Given the description of an element on the screen output the (x, y) to click on. 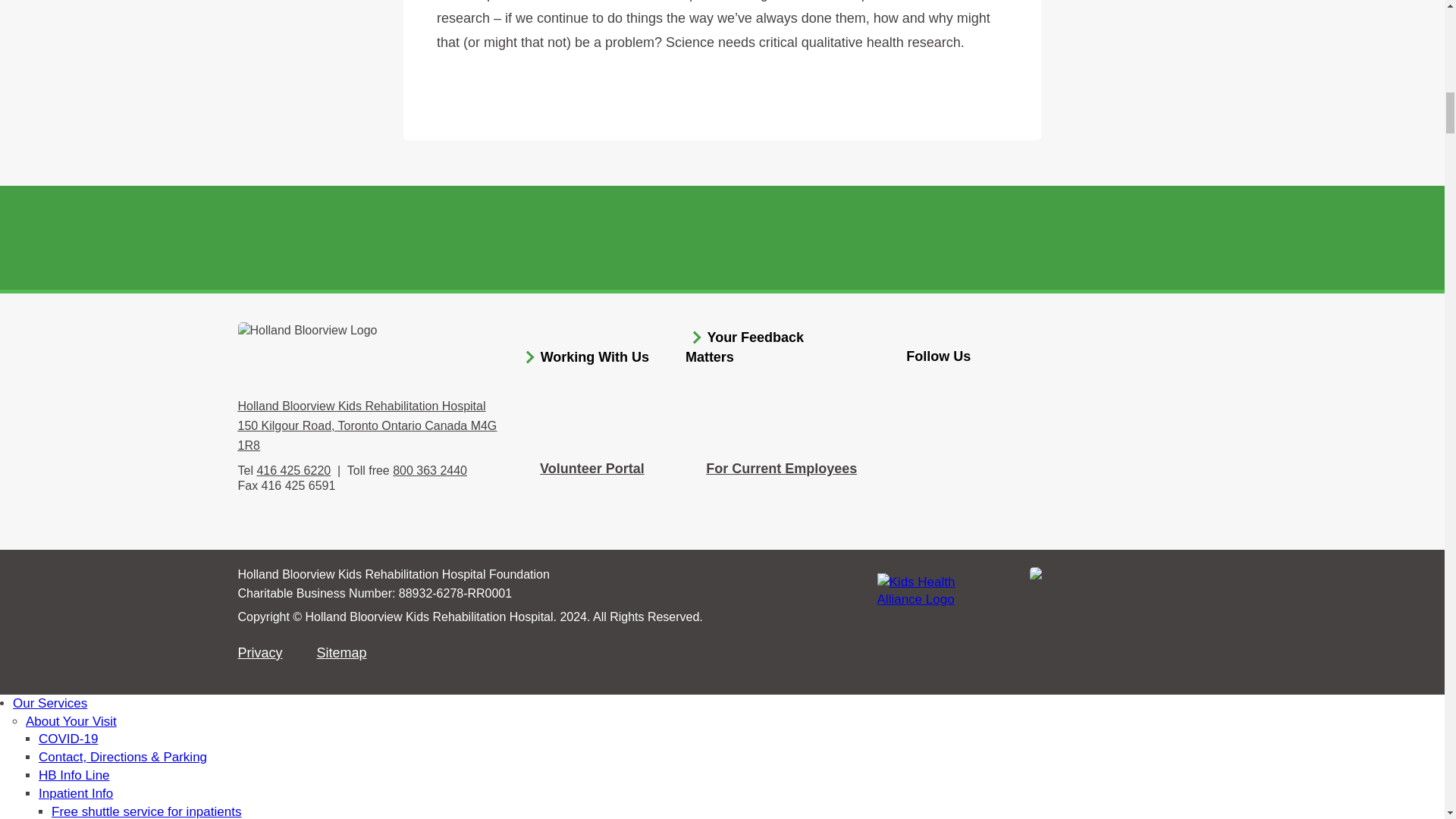
Instagram (1023, 388)
Working With Us (594, 356)
800 363 2440 (430, 470)
416 425 6220 (293, 470)
Youtube (1072, 388)
Twitter (973, 388)
Facebook (924, 388)
Volunteer Portal (592, 468)
Our Services (50, 703)
